Given the description of an element on the screen output the (x, y) to click on. 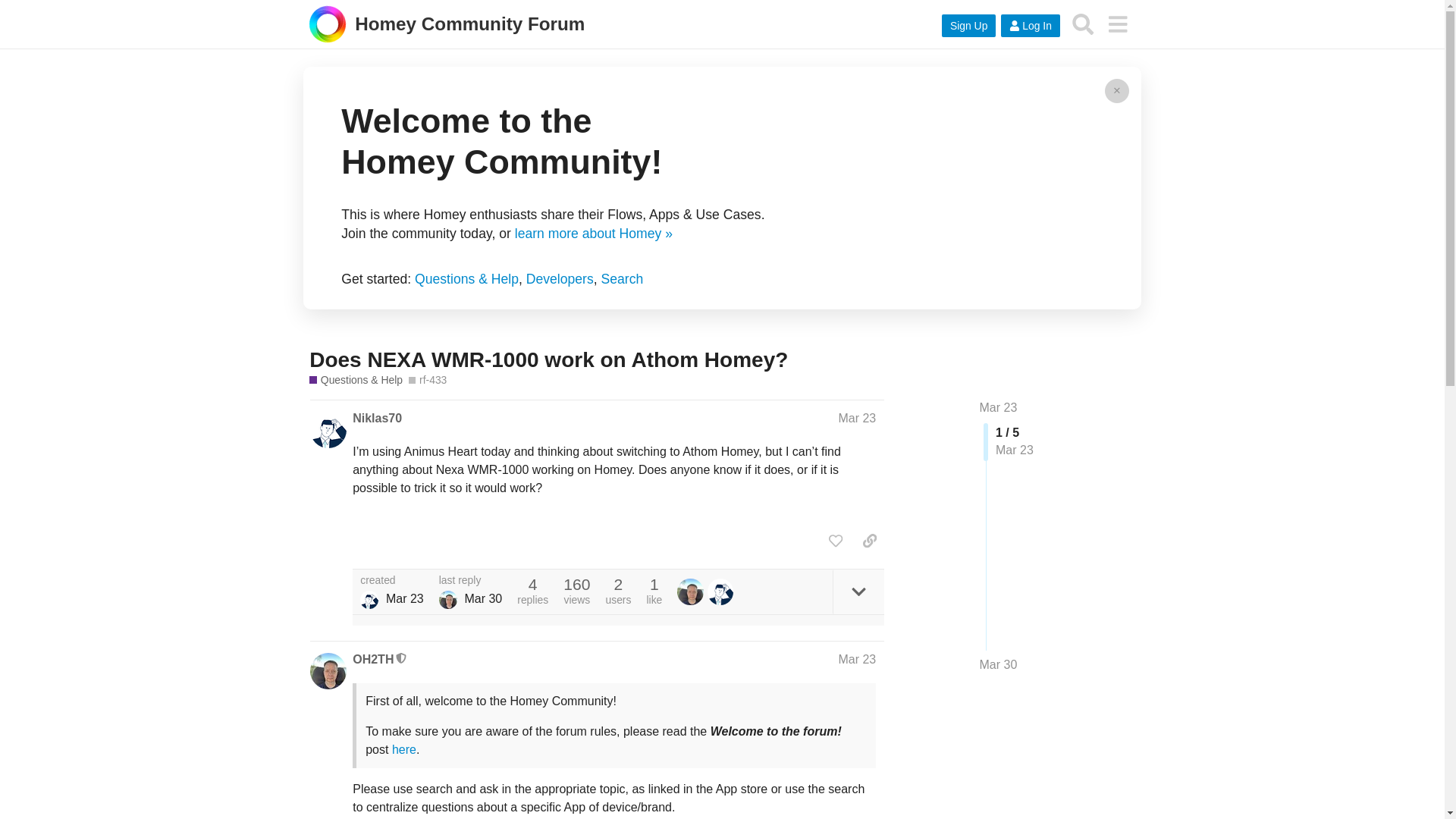
expand topic details (857, 591)
Mar 23 (857, 658)
Log In (1030, 25)
Search (622, 278)
Jump to the last post (998, 664)
OH2TH (372, 659)
Tapio Heiskanen (448, 599)
Mar 23, 2024 5:54 pm (404, 598)
Does NEXA WMR-1000 work on Athom Homey? (547, 359)
Post date (857, 418)
Jump to the first post (998, 407)
rf-433 (427, 380)
OH2TH (692, 591)
Mar 30 (998, 664)
Niklas70 (376, 418)
